Given the description of an element on the screen output the (x, y) to click on. 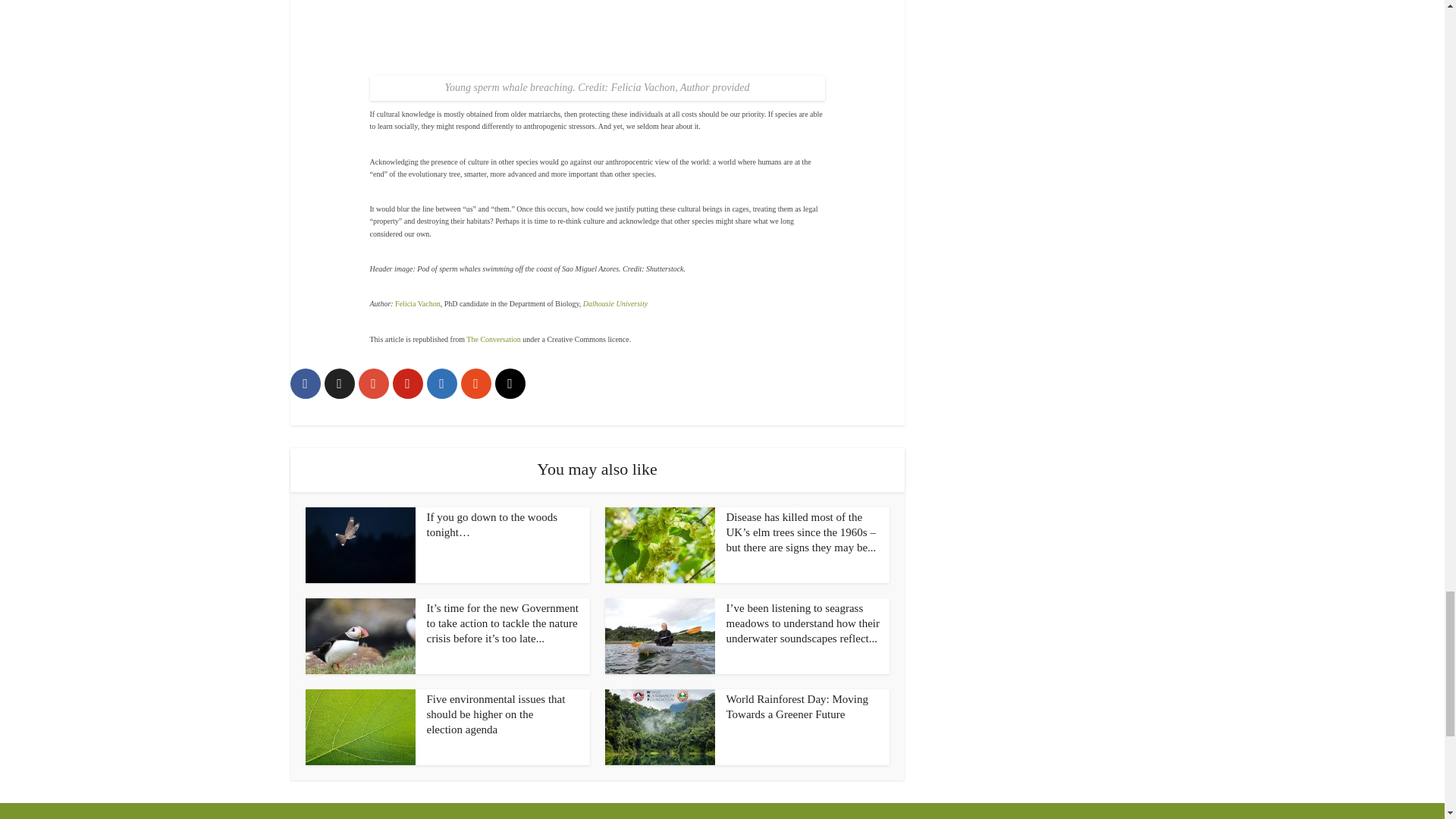
Dalhousie University (615, 303)
Felicia Vachon (417, 303)
The Conversation (492, 338)
World Rainforest Day: Moving Towards a Greener Future (797, 706)
